Given the description of an element on the screen output the (x, y) to click on. 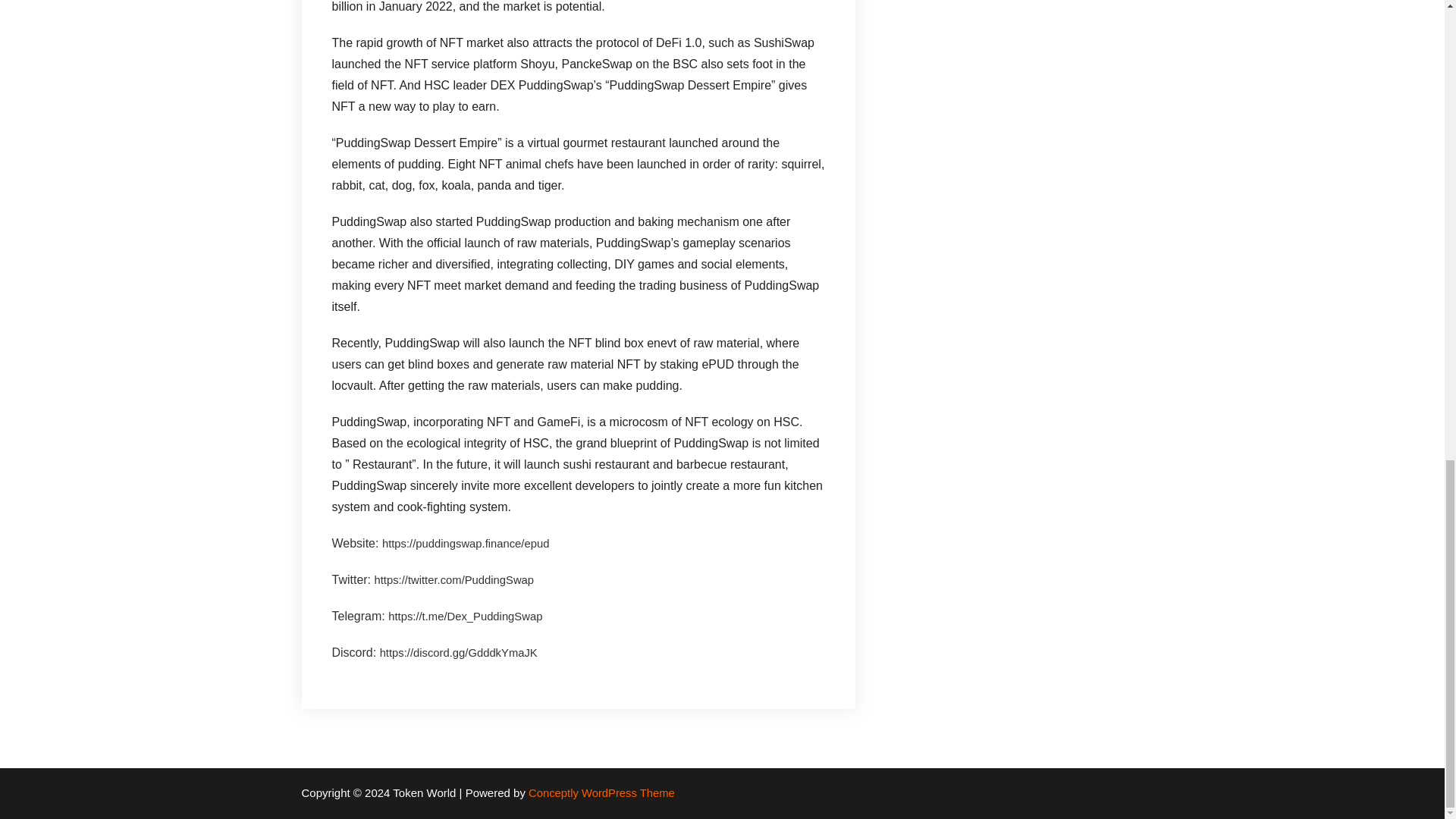
Conceptly WordPress Theme (601, 793)
